Given the description of an element on the screen output the (x, y) to click on. 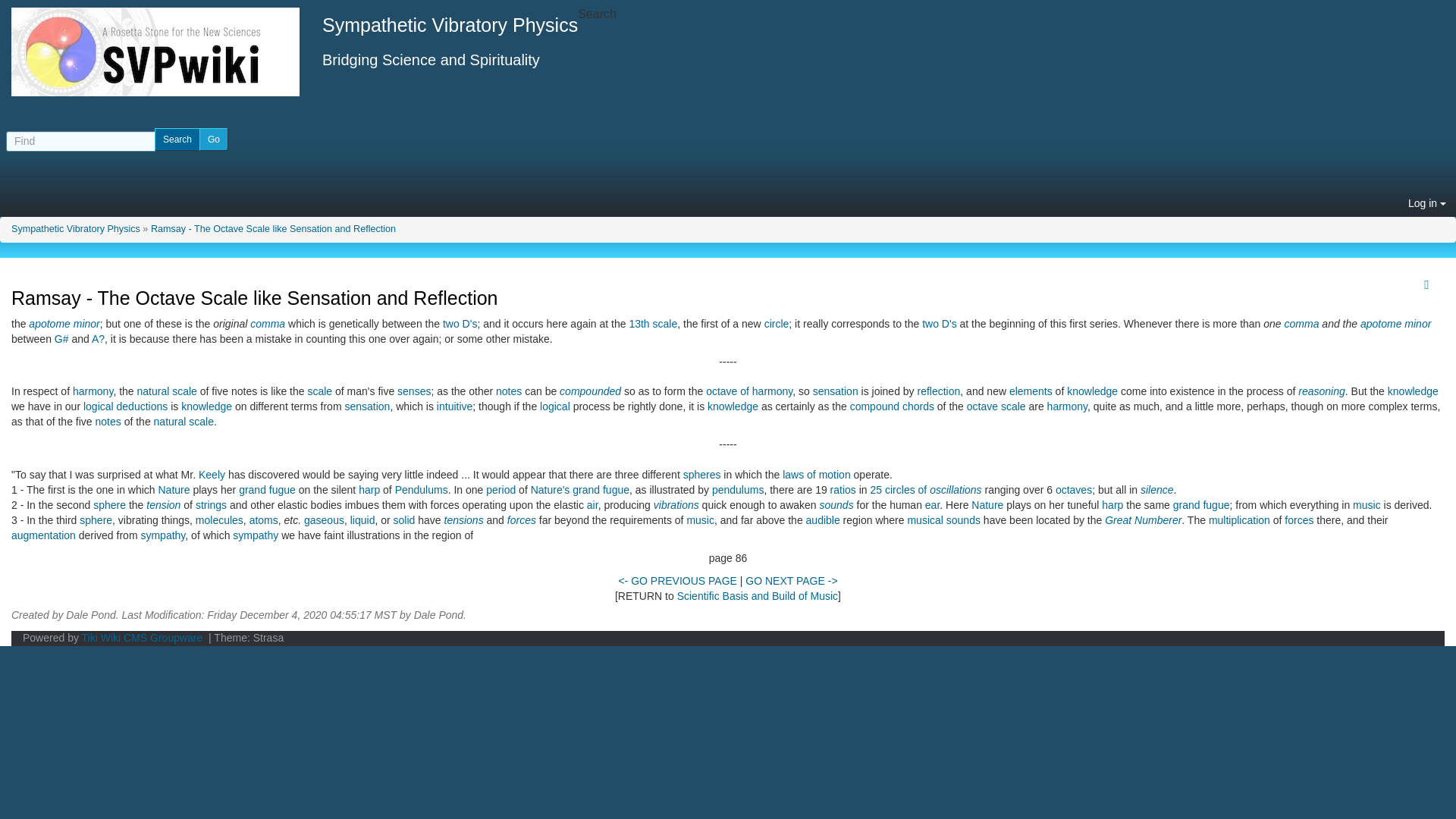
compounded (590, 390)
Search (177, 138)
A Flat (97, 338)
elements (1030, 390)
G sharp (61, 338)
Scale (319, 390)
apotome minor (1395, 323)
Go (213, 138)
notes (508, 390)
comma (267, 323)
Ramsay - The Octave Scale like Sensation and Reflection (273, 228)
Go (213, 138)
reasoning (1321, 390)
Ramsay - The Two D's - The Rah and the Ray (938, 323)
Search (177, 138)
